Given the description of an element on the screen output the (x, y) to click on. 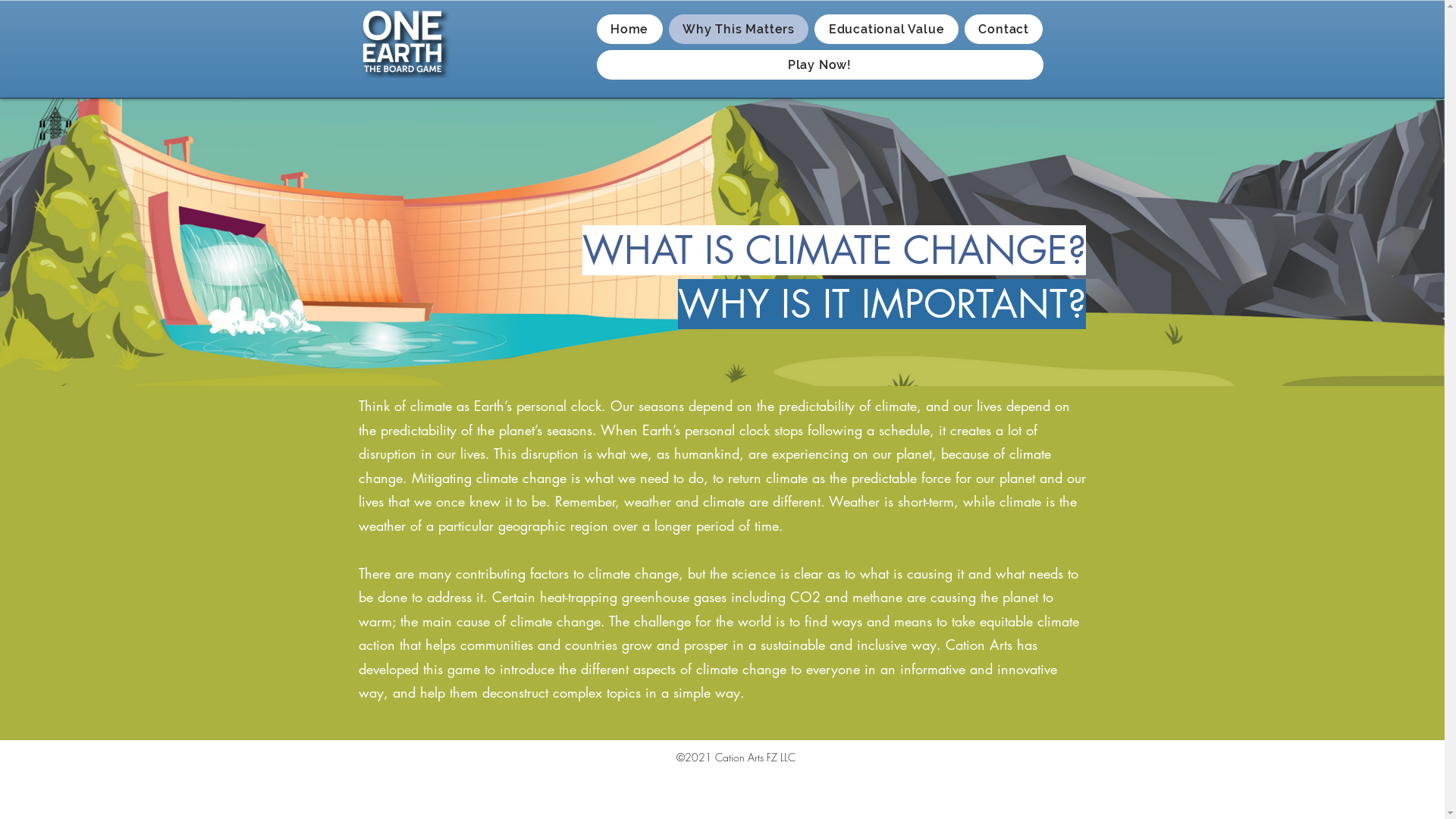
Why This Matters Element type: text (738, 28)
Home Element type: text (629, 28)
2 Element type: text (701, 756)
Educational Value Element type: text (886, 28)
Play Now! Element type: text (819, 64)
Contact Element type: text (1003, 28)
